Given the description of an element on the screen output the (x, y) to click on. 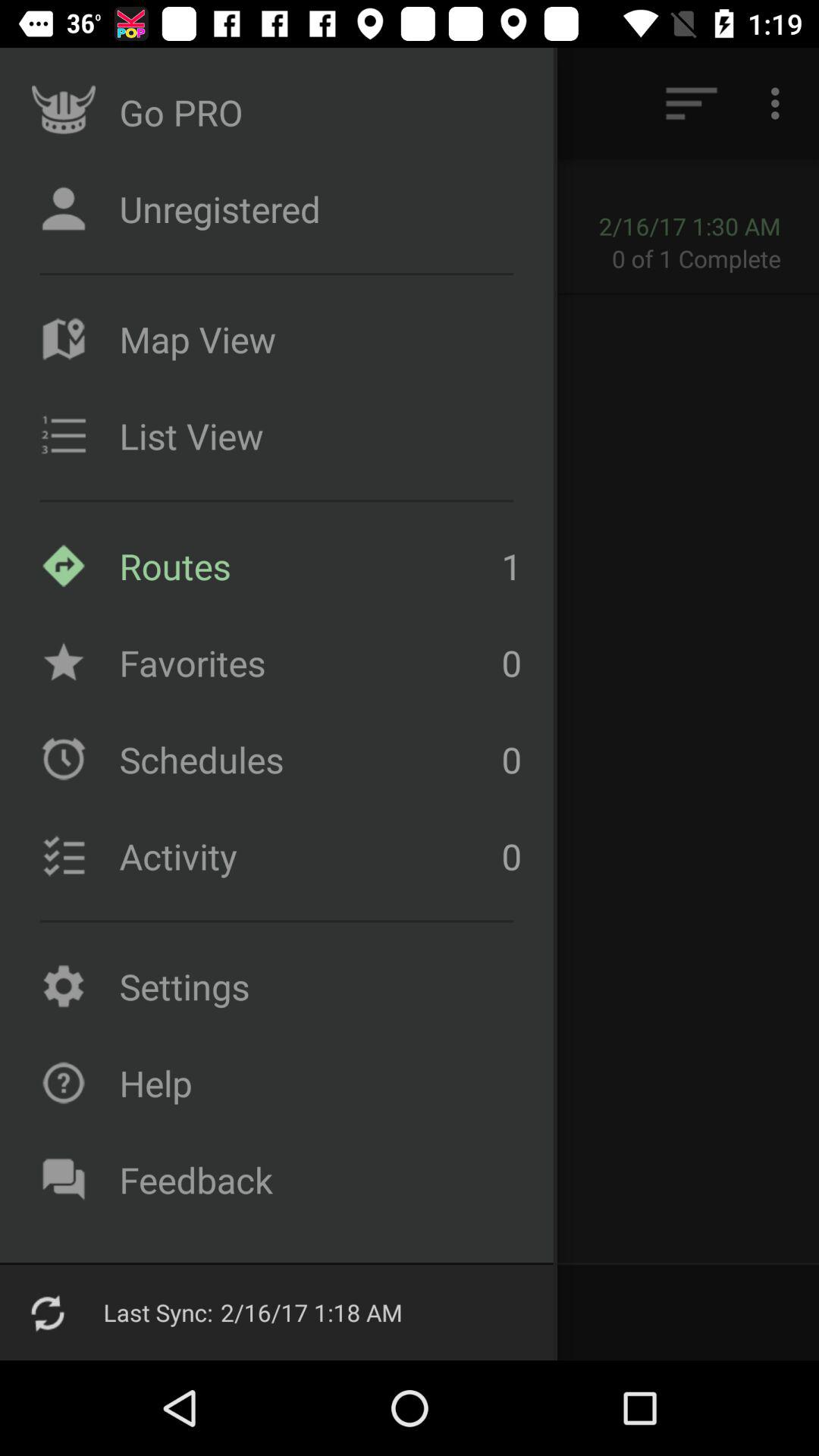
turn on the item to the left of the 1 (306, 662)
